Given the description of an element on the screen output the (x, y) to click on. 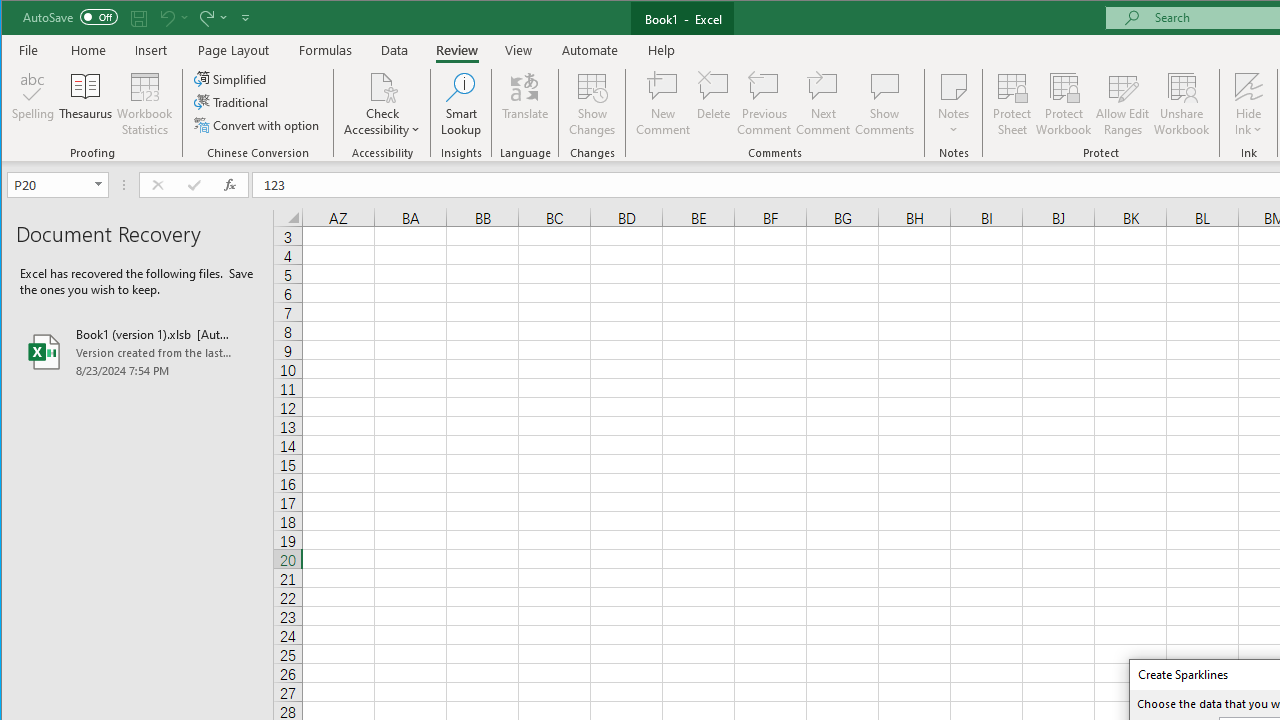
Translate (525, 104)
Hide Ink (1248, 104)
Simplified (231, 78)
Workbook Statistics (145, 104)
Show Changes (592, 104)
Hide Ink (1248, 86)
